Given the description of an element on the screen output the (x, y) to click on. 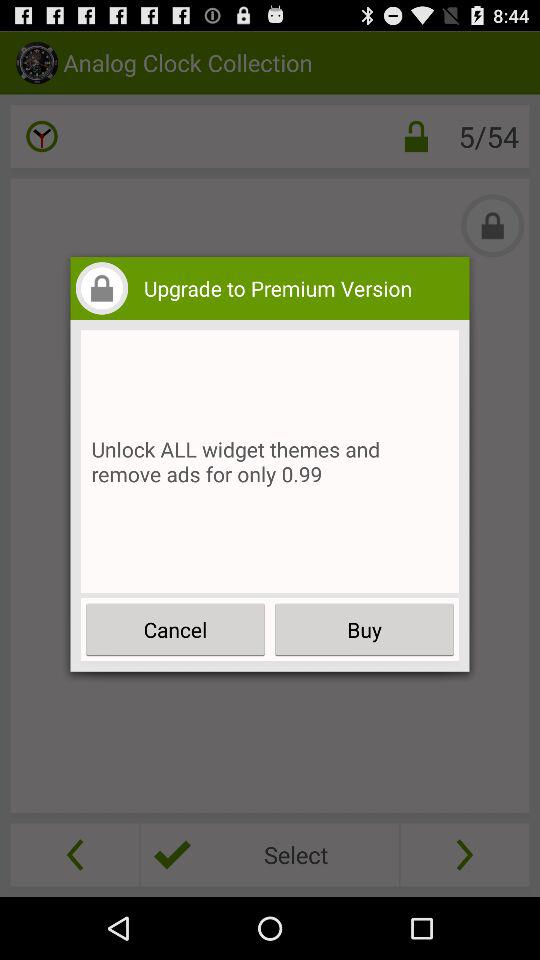
open the cancel (175, 629)
